Given the description of an element on the screen output the (x, y) to click on. 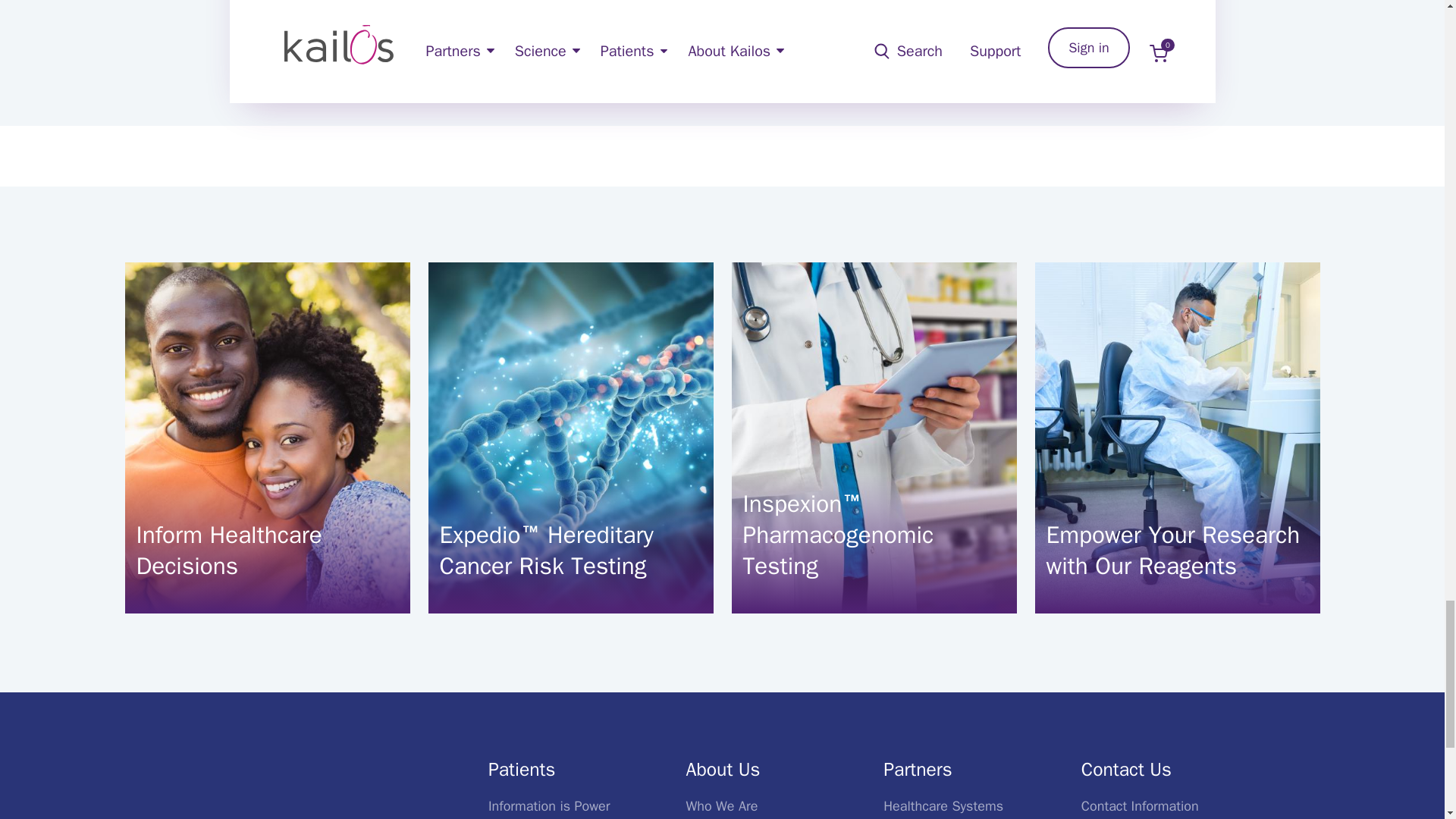
Submit (363, 11)
Submit (363, 11)
Information is Power (548, 805)
Empower Your Research with Our Reagents (1177, 551)
Inform Healthcare Decisions (267, 551)
Who We Are (721, 805)
